Given the description of an element on the screen output the (x, y) to click on. 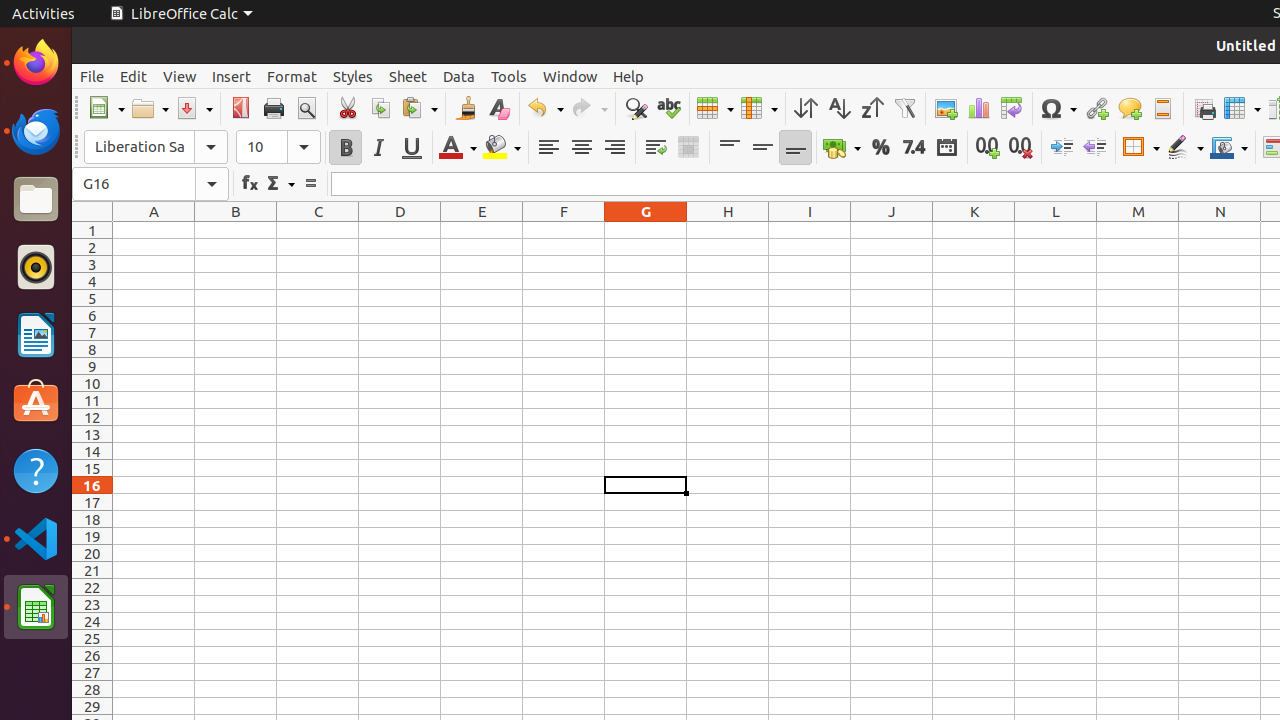
Rhythmbox Element type: push-button (36, 267)
Edit Element type: menu (133, 76)
Comment Element type: push-button (1129, 108)
D1 Element type: table-cell (400, 230)
Formula Element type: push-button (310, 183)
